Given the description of an element on the screen output the (x, y) to click on. 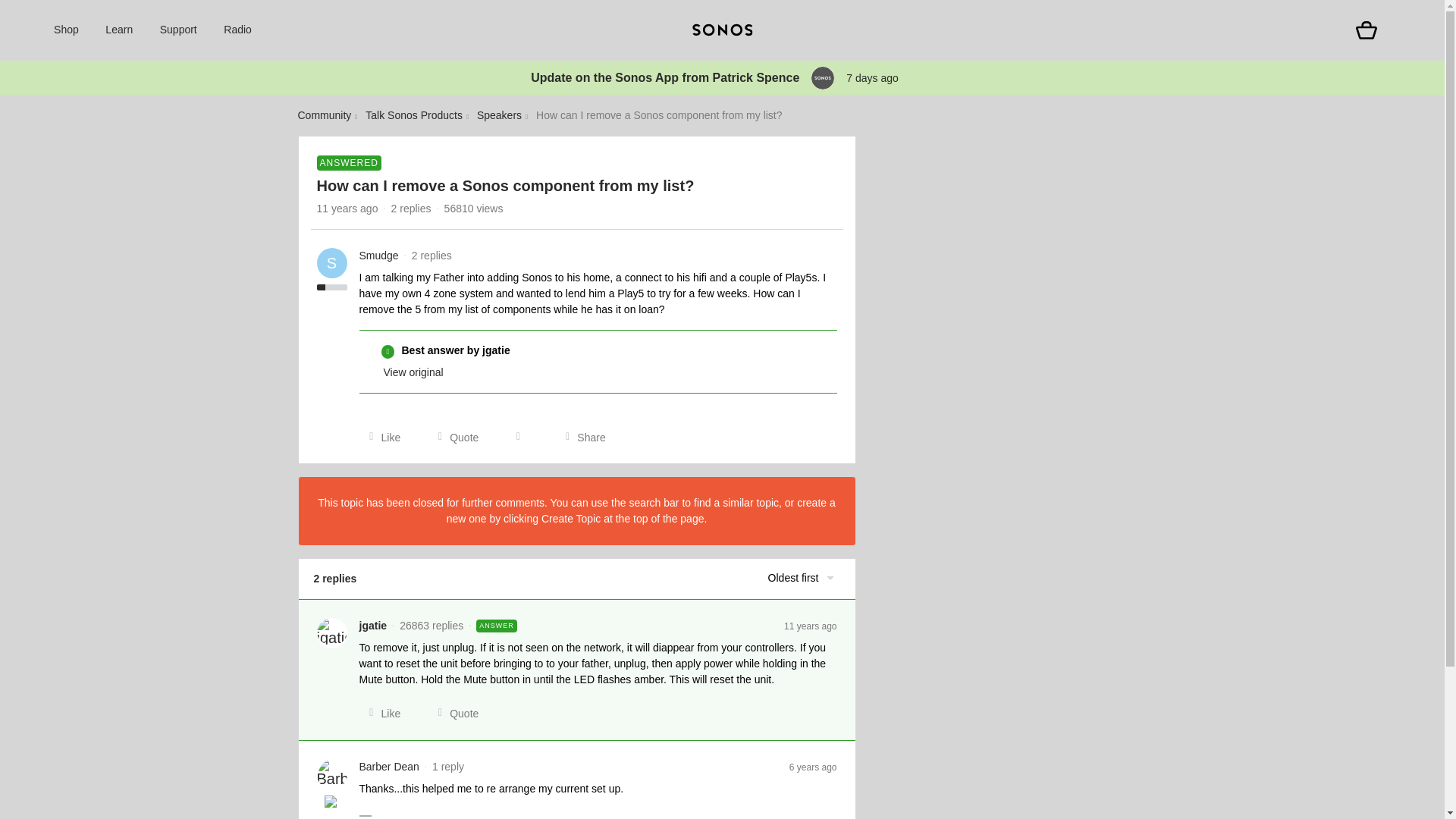
Radio (237, 30)
Support (178, 30)
2 replies (410, 208)
Community (323, 115)
jgatie (373, 625)
Shop (65, 30)
Speakers (499, 115)
S (332, 263)
Learn (118, 30)
Barber Dean (389, 766)
Talk Sonos Products (414, 115)
Meet and greet (331, 802)
Smudge (378, 255)
